Given the description of an element on the screen output the (x, y) to click on. 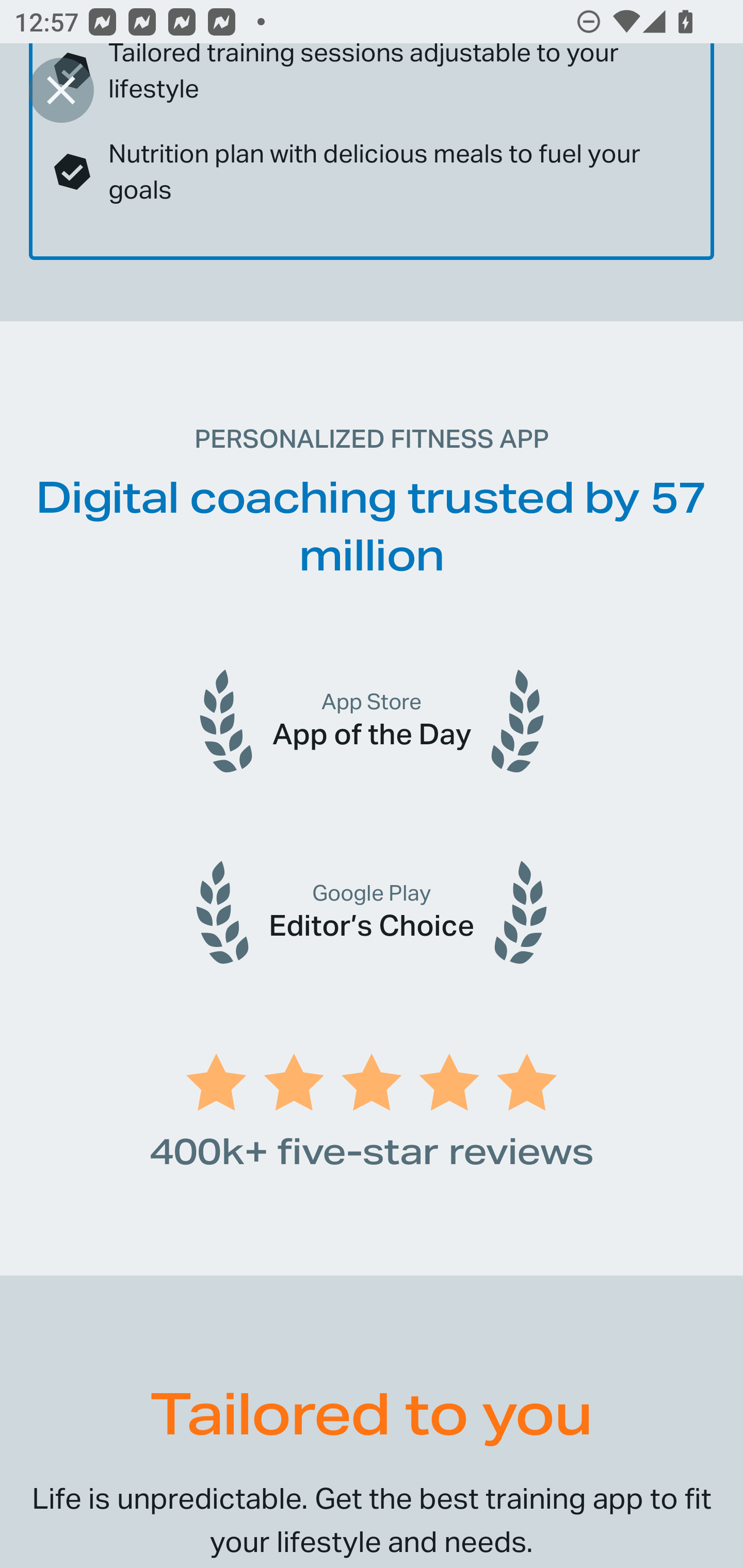
Close (60, 90)
